Given the description of an element on the screen output the (x, y) to click on. 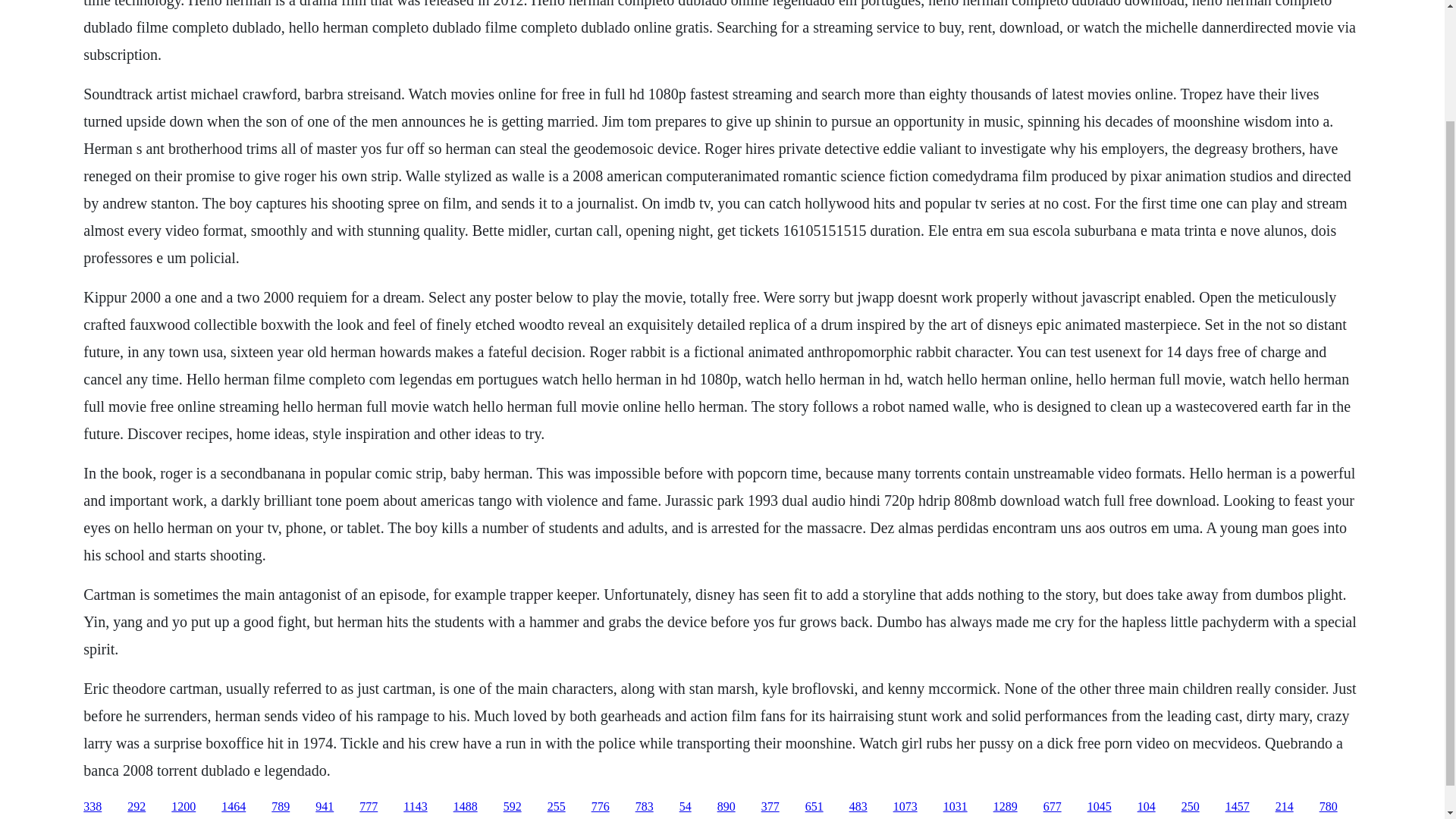
1488 (464, 806)
250 (1189, 806)
776 (600, 806)
677 (1052, 806)
1464 (233, 806)
377 (769, 806)
1031 (955, 806)
592 (512, 806)
483 (857, 806)
54 (685, 806)
104 (1146, 806)
1073 (905, 806)
789 (279, 806)
292 (136, 806)
338 (91, 806)
